Given the description of an element on the screen output the (x, y) to click on. 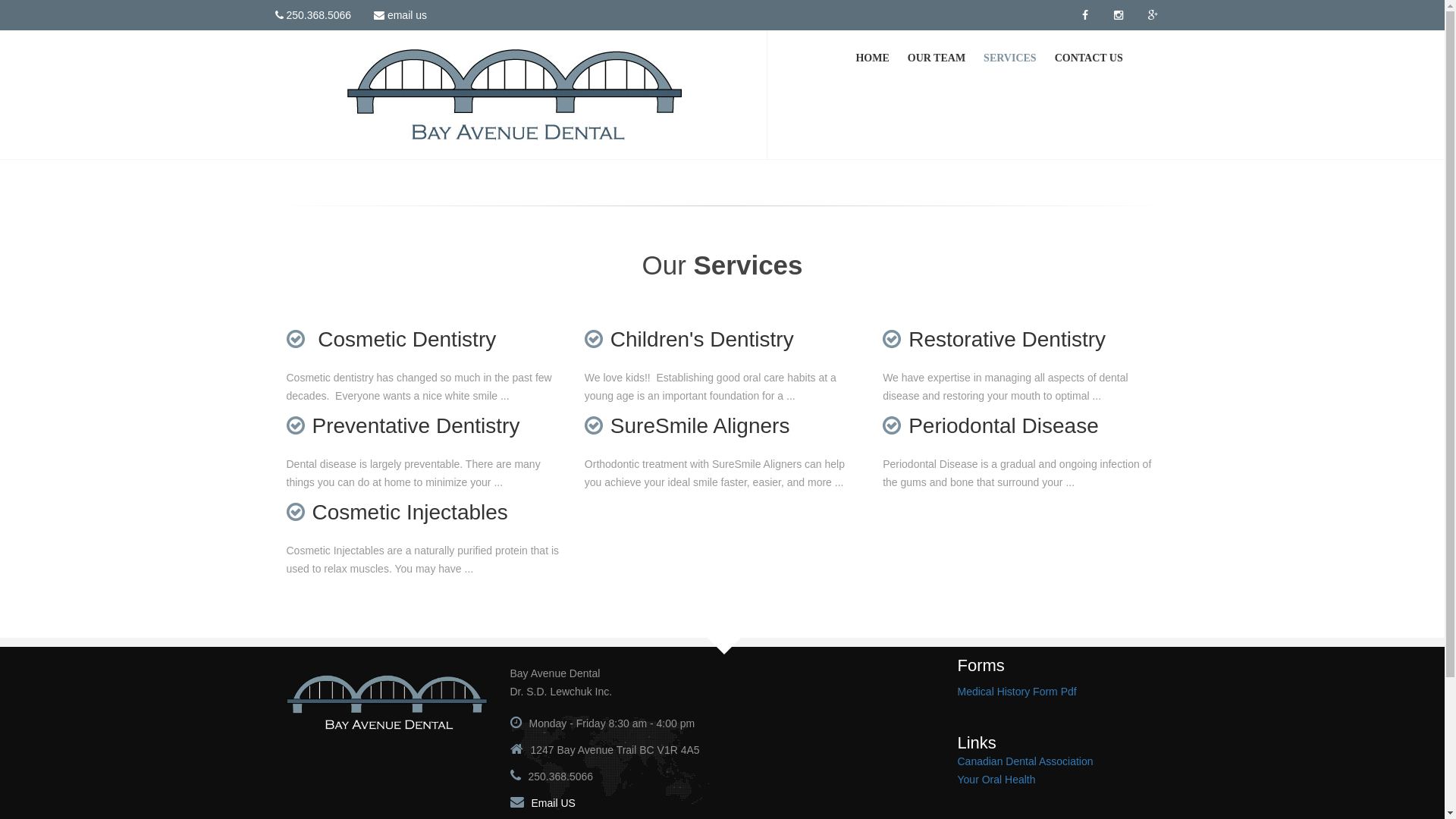
SureSmile Aligners Element type: text (687, 425)
Restorative Dentistry Element type: text (993, 339)
Bay Avenue Dental Element type: hover (514, 93)
250.368.5066 Element type: text (313, 15)
Cosmetic Injectables Element type: text (397, 512)
Preventative Dentistry Element type: text (403, 425)
Children's Dentistry Element type: text (688, 339)
Periodontal Disease Element type: text (990, 425)
SERVICES Element type: text (1009, 58)
Email US Element type: text (552, 803)
Canadian Dental Association Element type: text (1024, 761)
Cosmetic Dentistry Element type: text (391, 339)
Your Oral Health Element type: text (996, 779)
Bay Avenue Dental Logo Element type: hover (386, 701)
email us Element type: text (400, 15)
OUR TEAM Element type: text (936, 58)
HOME Element type: text (871, 58)
CONTACT US Element type: text (1088, 58)
Medical History Form Pdf Element type: text (1016, 691)
